Given the description of an element on the screen output the (x, y) to click on. 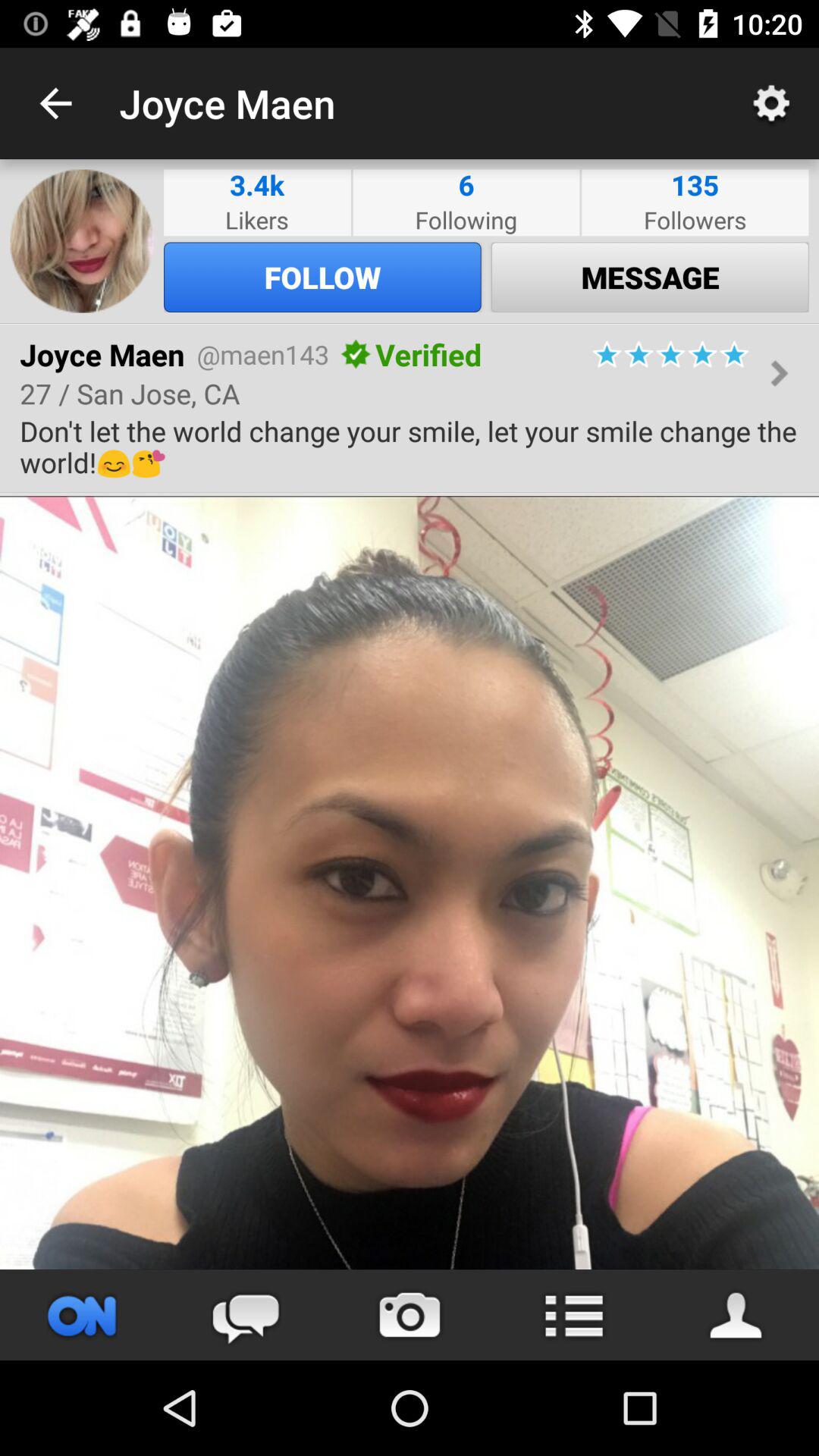
tap the follow item (322, 277)
